Given the description of an element on the screen output the (x, y) to click on. 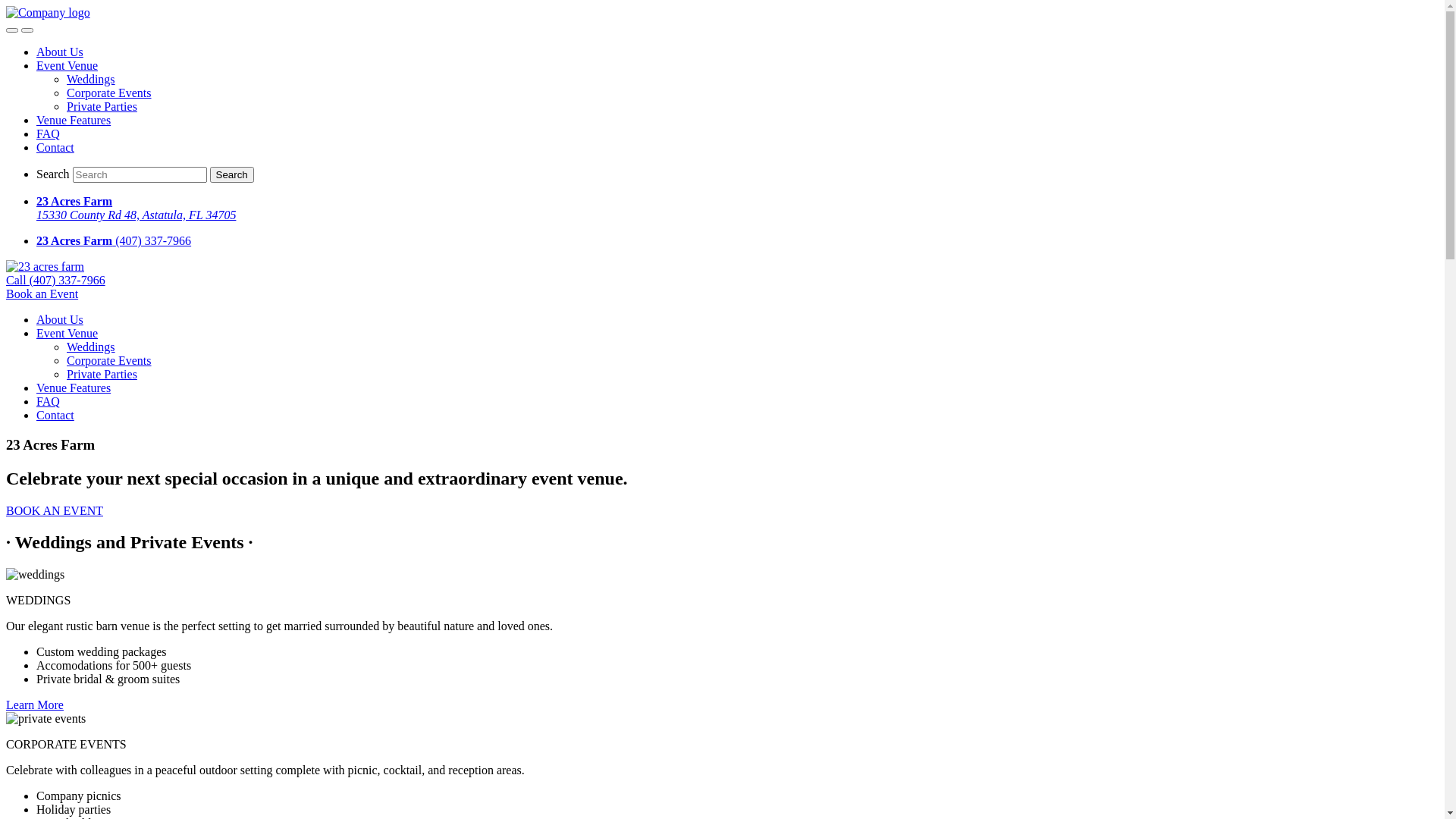
23 Acres Farm (407) 337-7966 Element type: text (737, 240)
About Us Element type: text (59, 319)
Book an Event Element type: text (42, 293)
Search Element type: text (232, 174)
Private Parties Element type: text (101, 373)
Weddings Element type: text (90, 78)
About Us Element type: text (59, 51)
Call (407) 337-7966 Element type: text (55, 279)
Learn More Element type: text (34, 704)
Weddings Element type: text (90, 346)
Private Parties Element type: text (101, 106)
Corporate Events Element type: text (108, 360)
FAQ Element type: text (47, 133)
Venue Features Element type: text (73, 119)
23 Acres Farm
15330 County Rd 48, Astatula, FL 34705 Element type: text (737, 208)
Venue Features Element type: text (73, 387)
BOOK AN EVENT Element type: text (54, 510)
Corporate Events Element type: text (108, 92)
Contact Element type: text (55, 147)
Event Venue Element type: text (66, 65)
Skip to content Element type: text (5, 5)
Event Venue Element type: text (66, 332)
Contact Element type: text (55, 414)
FAQ Element type: text (47, 401)
